Given the description of an element on the screen output the (x, y) to click on. 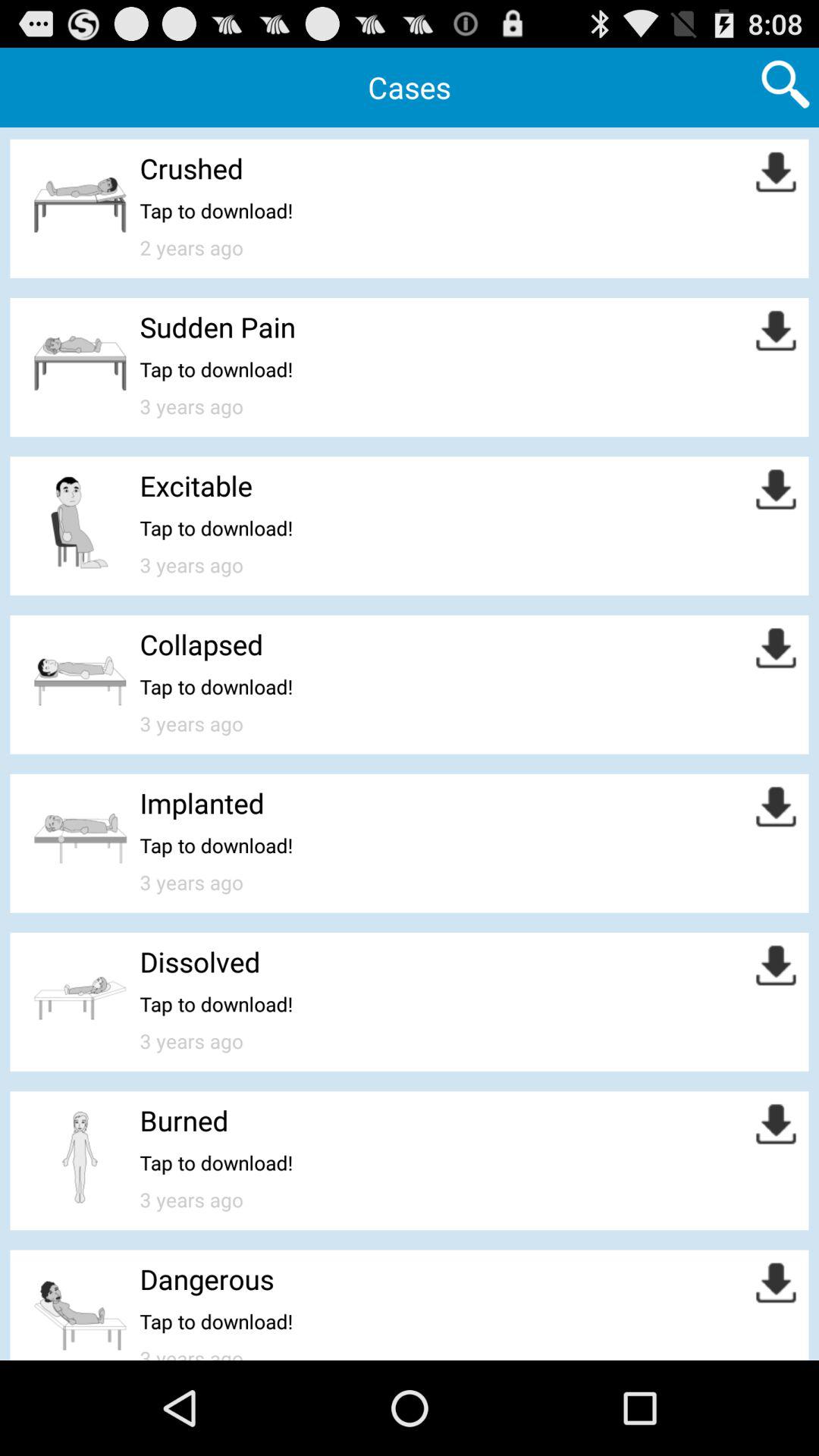
press the collapsed (201, 644)
